Given the description of an element on the screen output the (x, y) to click on. 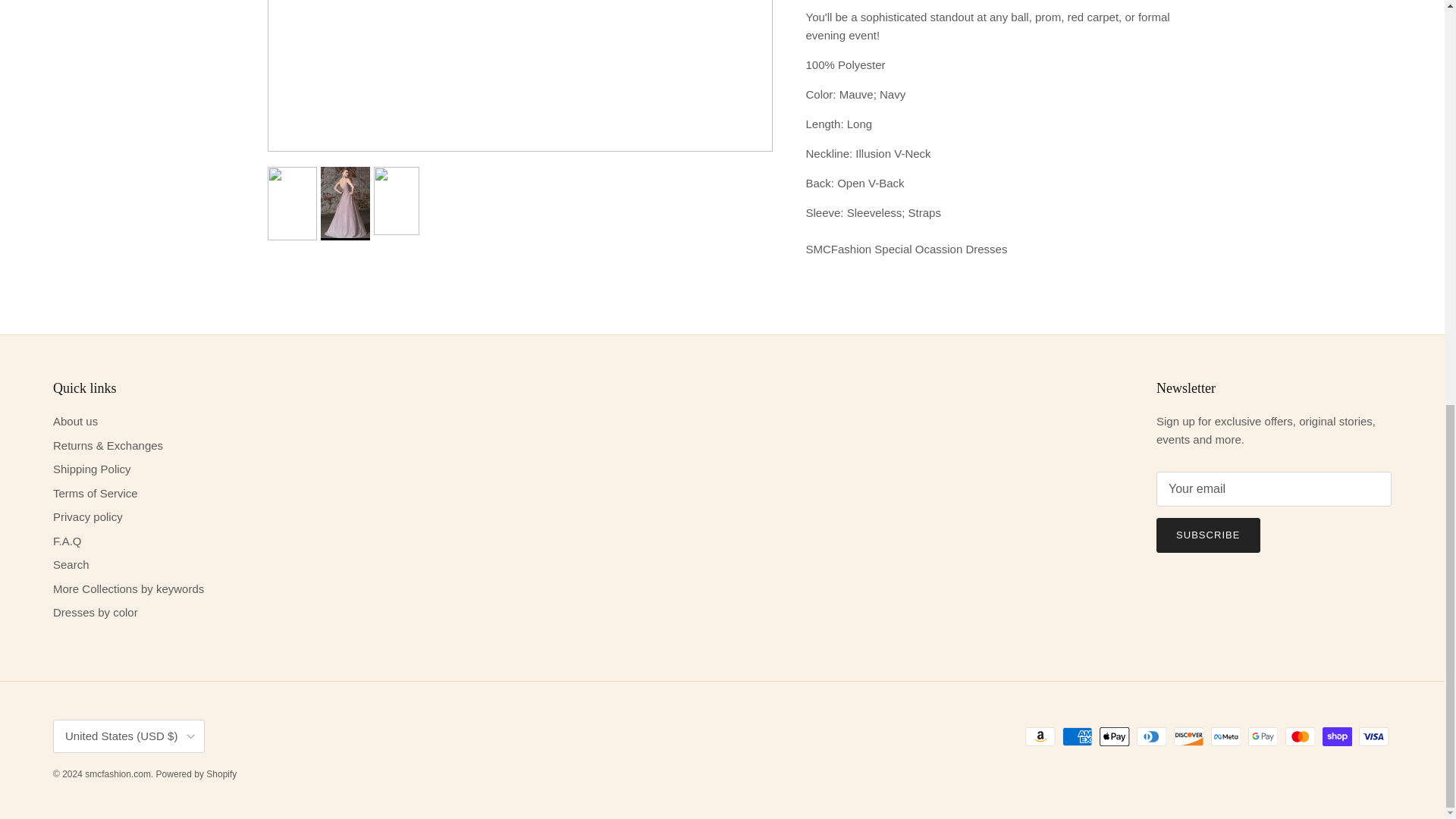
Shop Pay (1337, 736)
Amazon (1040, 736)
Discover (1188, 736)
Visa (1373, 736)
Mastercard (1299, 736)
Google Pay (1262, 736)
American Express (1077, 736)
Apple Pay (1114, 736)
Diners Club (1151, 736)
Meta Pay (1225, 736)
